Given the description of an element on the screen output the (x, y) to click on. 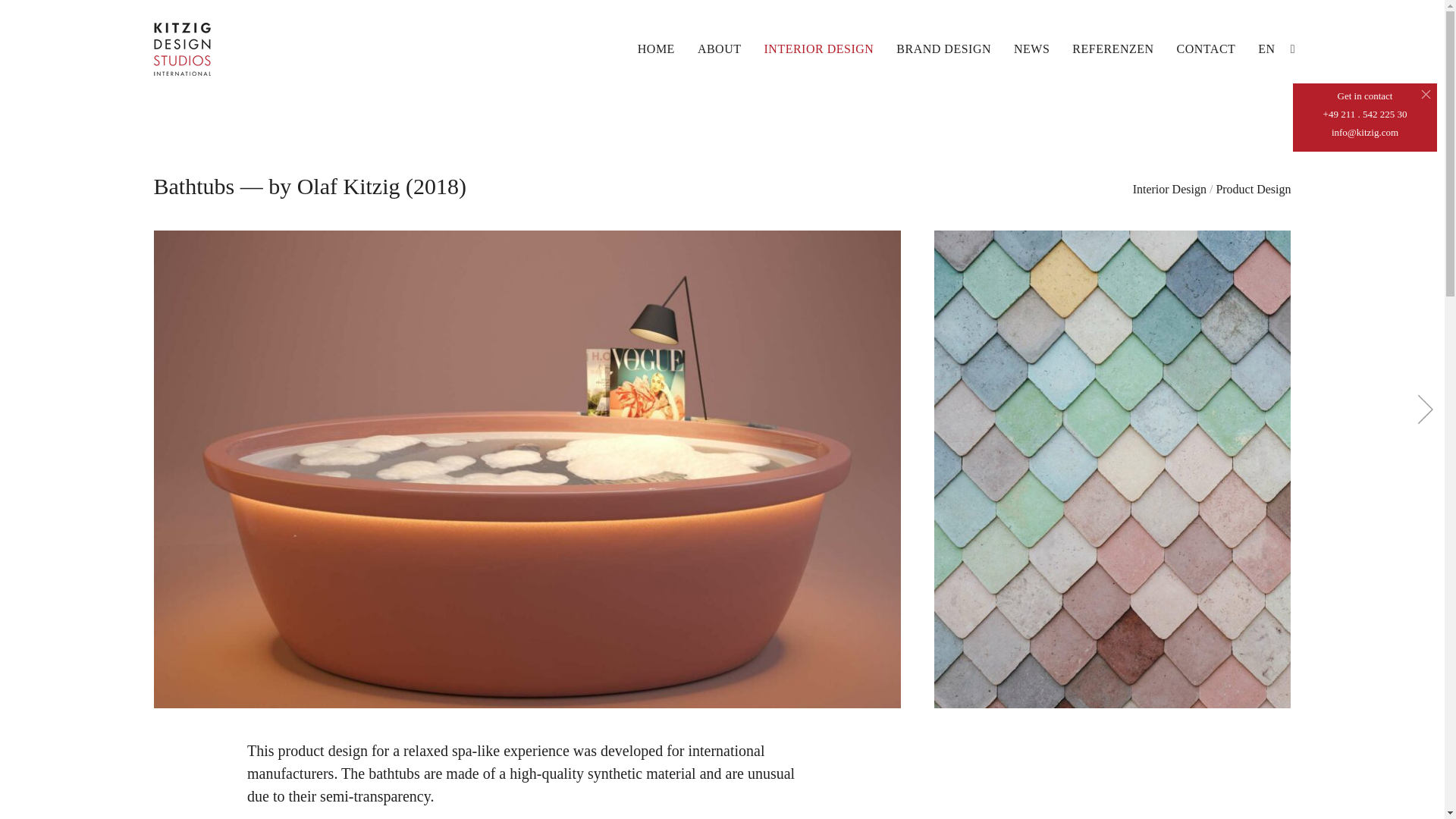
BRAND DESIGN (943, 48)
NEWS (1031, 48)
CONTACT (1206, 48)
INTERIOR DESIGN (819, 48)
ABOUT (719, 48)
HOME (656, 48)
REFERENZEN (1112, 48)
EN (1266, 48)
